Given the description of an element on the screen output the (x, y) to click on. 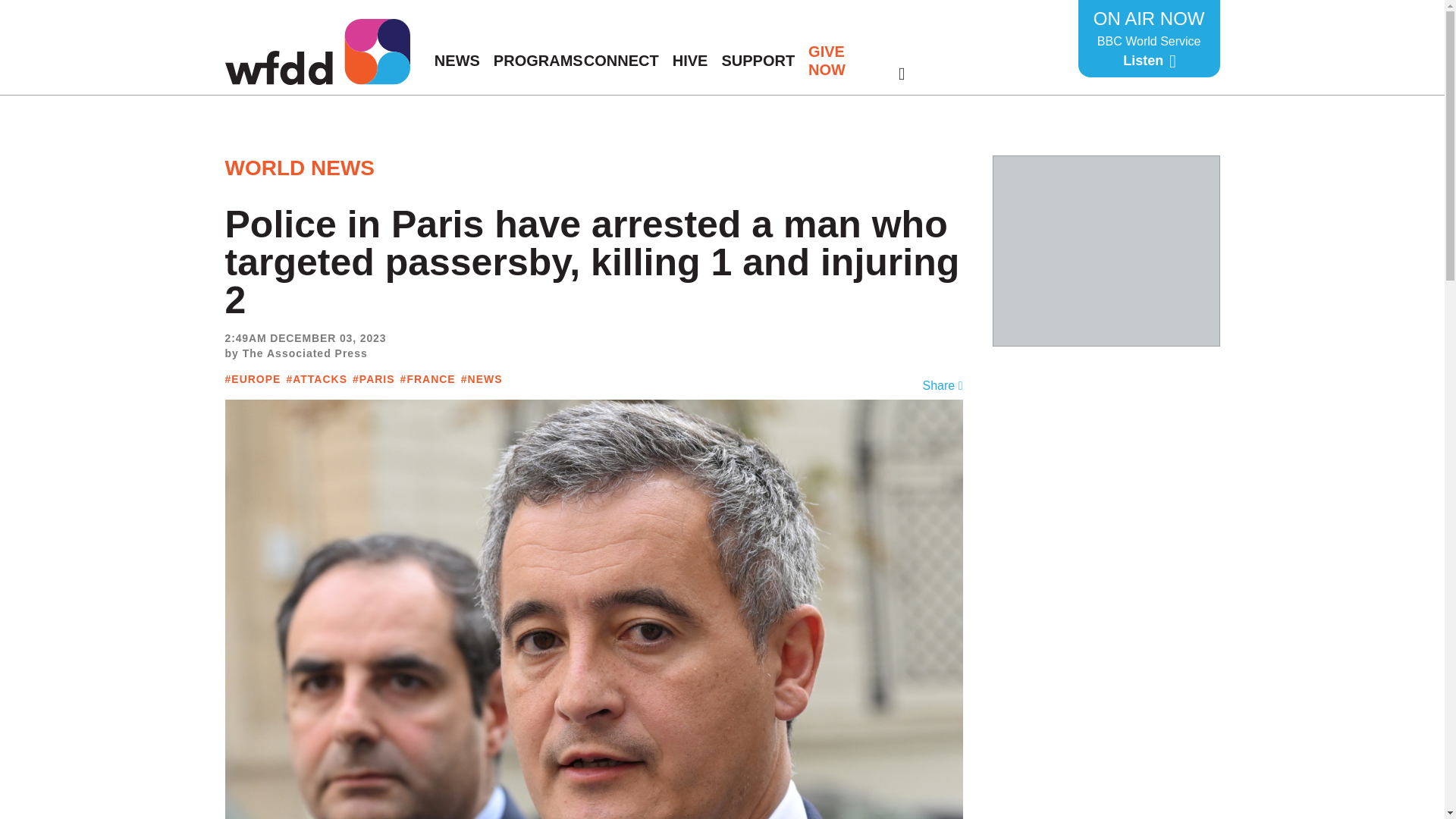
3rd party ad content (1149, 38)
Home (1106, 250)
Skip to main content (316, 51)
